Given the description of an element on the screen output the (x, y) to click on. 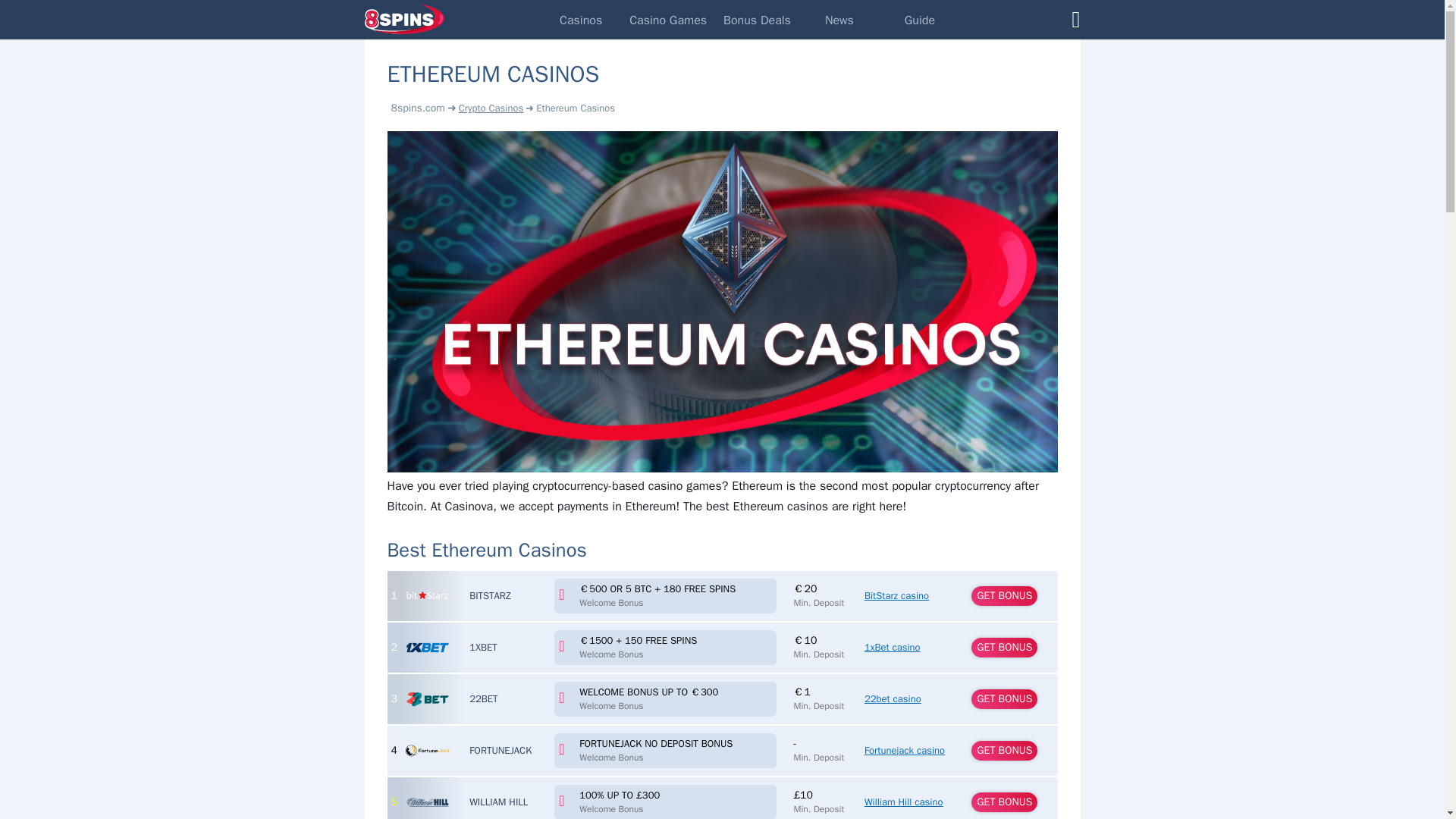
Fortunejack (499, 749)
22bet casino (892, 698)
22bet casino (426, 698)
Fortunejack casino (904, 749)
William Hill (497, 801)
1xBet casino (426, 647)
BitStarz casino (896, 594)
BitStarz casino (426, 596)
BitStarz (489, 594)
William Hill casino (426, 801)
22BET (482, 698)
Casino Games (668, 20)
1xBet casino (892, 646)
Crypto Casinos (490, 108)
22bet (482, 698)
